Given the description of an element on the screen output the (x, y) to click on. 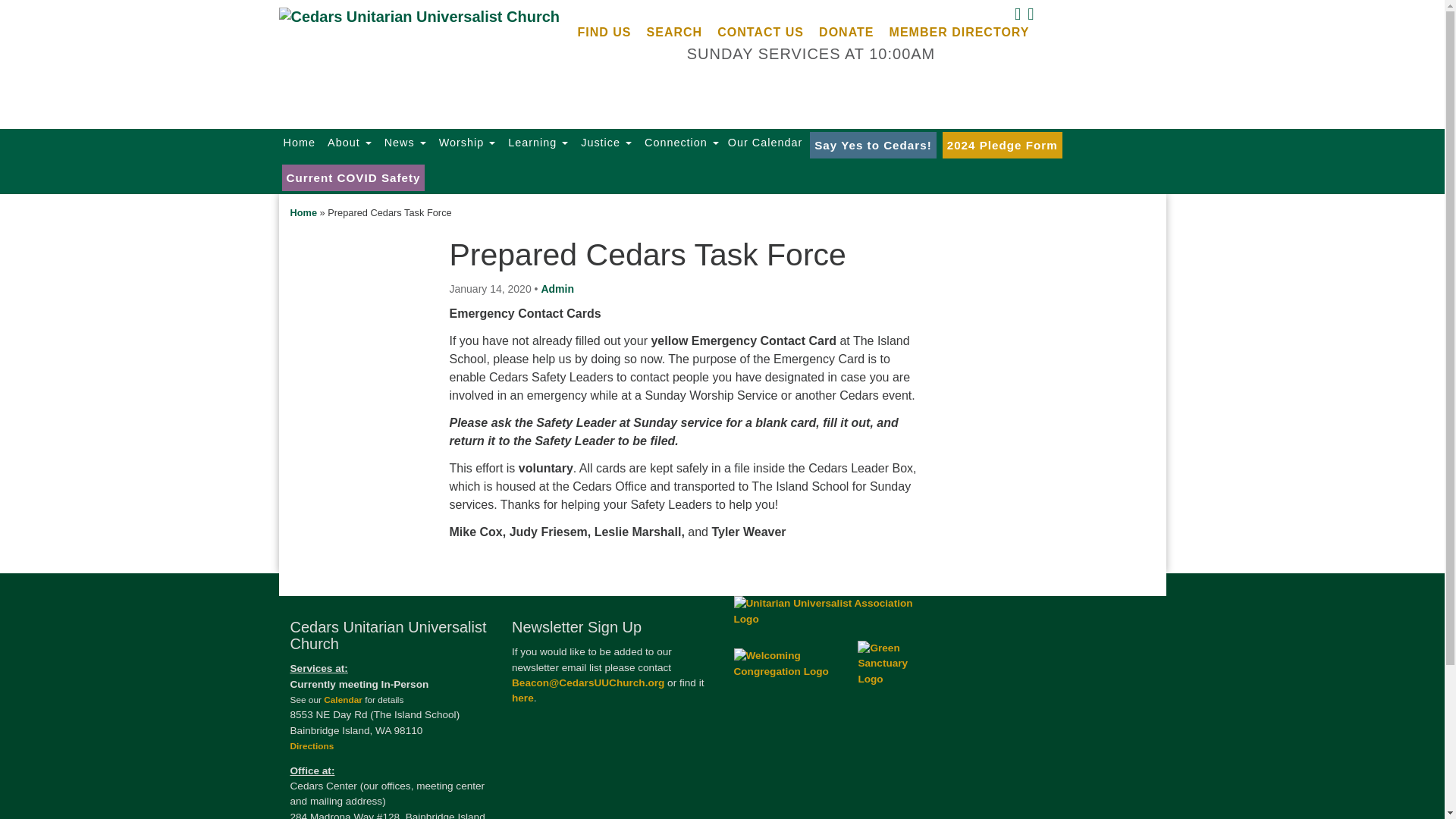
Home (299, 141)
CONTACT US (760, 31)
About (347, 141)
 News (402, 141)
 About (347, 141)
DONATE (846, 31)
FACEBOOK (1016, 16)
FIND US (604, 31)
Home (299, 141)
